Given the description of an element on the screen output the (x, y) to click on. 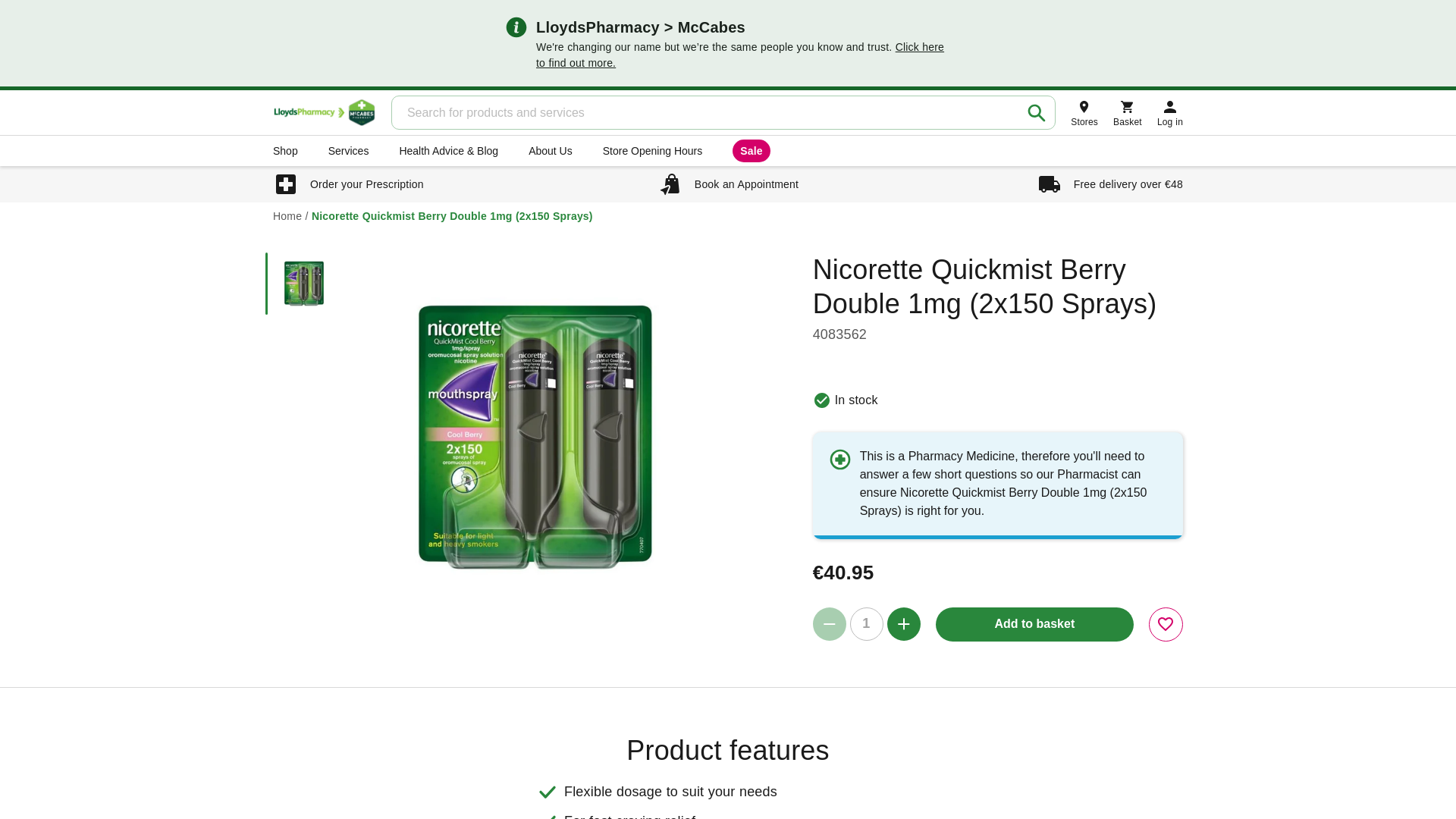
Home (287, 215)
Go to LloydsPharmacy home (324, 112)
Click here to find out more. (739, 54)
Basket (1127, 112)
Stores (1083, 112)
1 (866, 623)
